Given the description of an element on the screen output the (x, y) to click on. 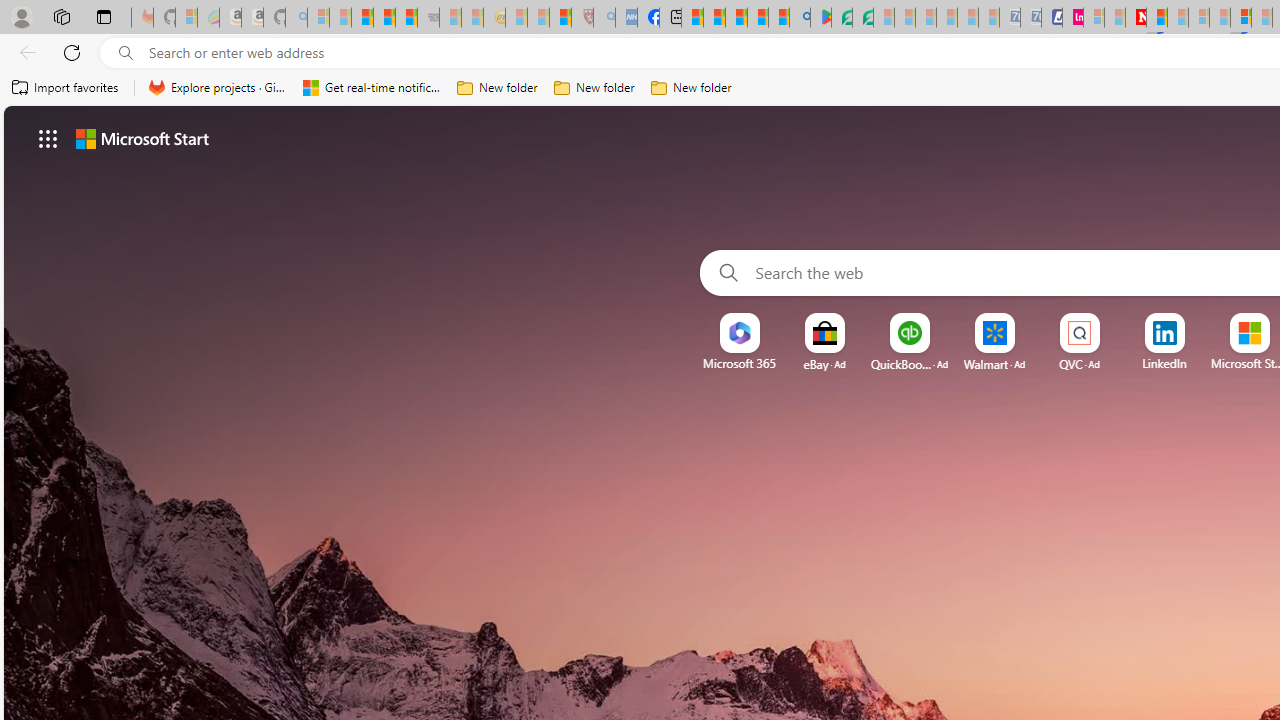
The Weather Channel - MSN (362, 17)
Local - MSN (560, 17)
Search icon (125, 53)
